Given the description of an element on the screen output the (x, y) to click on. 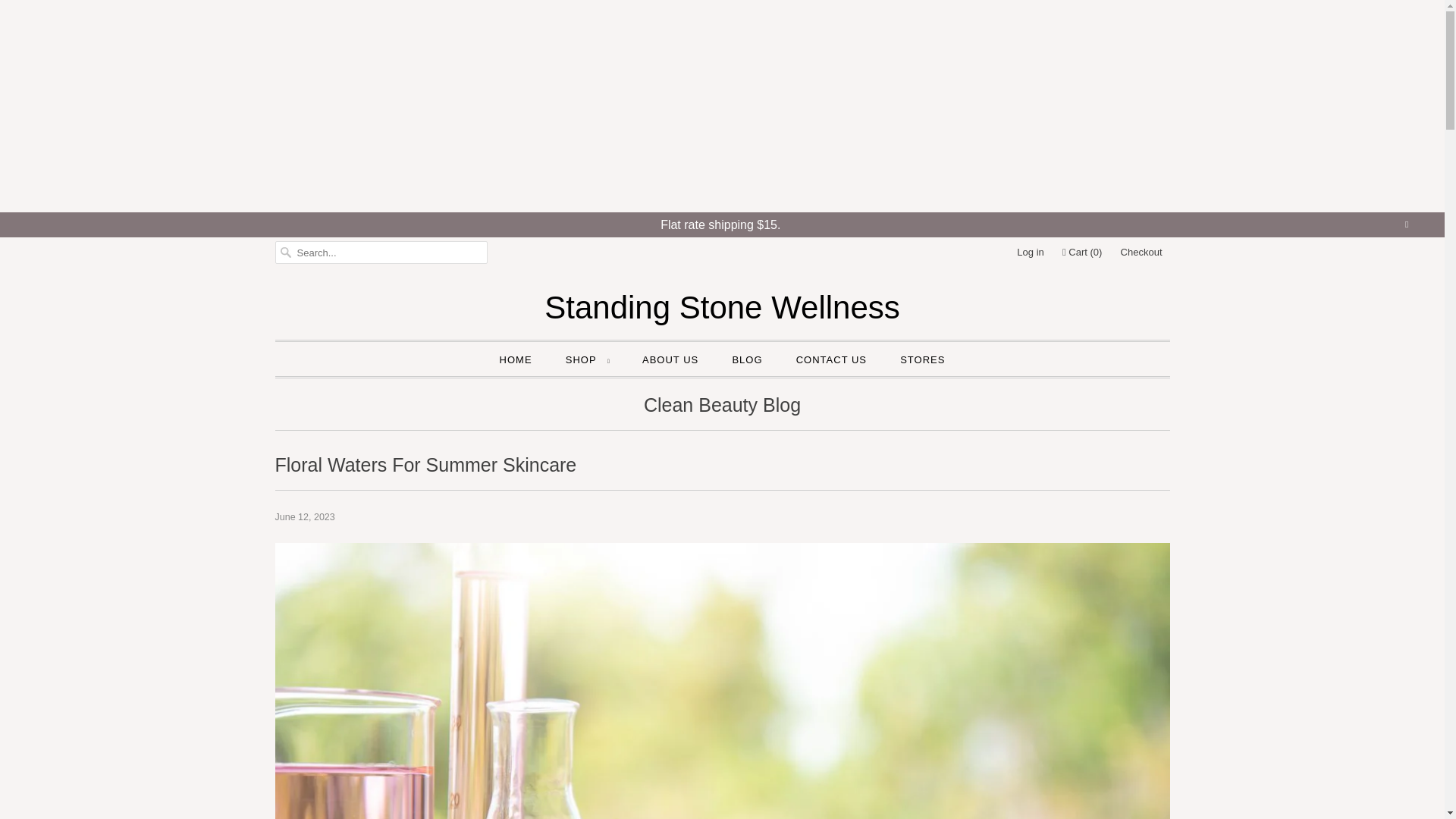
STORES (921, 359)
Clean Beauty Blog (722, 407)
BLOG (746, 359)
Log in (1029, 251)
SHOP (587, 359)
Clean Beauty Blog (722, 407)
ABOUT US (670, 359)
Checkout (1141, 251)
CONTACT US (831, 359)
HOME (515, 359)
Standing Stone Wellness (722, 307)
Standing Stone Wellness (722, 307)
